Given the description of an element on the screen output the (x, y) to click on. 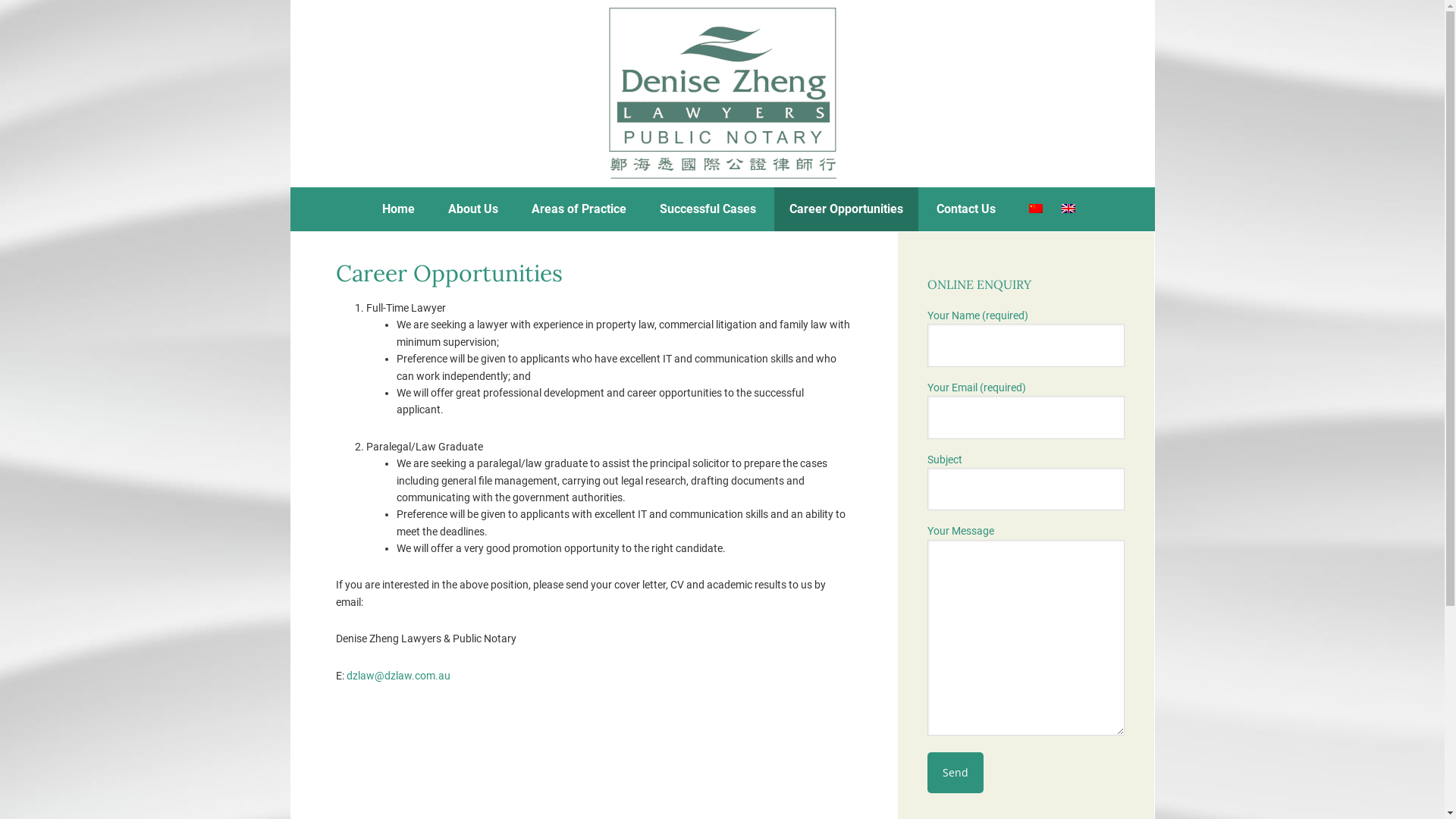
About Us Element type: text (473, 209)
Career Opportunities Element type: text (846, 209)
Areas of Practice Element type: text (578, 209)
Successful Cases Element type: text (707, 209)
Skip to primary navigation Element type: text (289, 0)
dzlaw@dzlaw.com.au Element type: text (397, 675)
Contact Us Element type: text (965, 209)
Home Element type: text (398, 209)
Send Element type: text (954, 772)
